Given the description of an element on the screen output the (x, y) to click on. 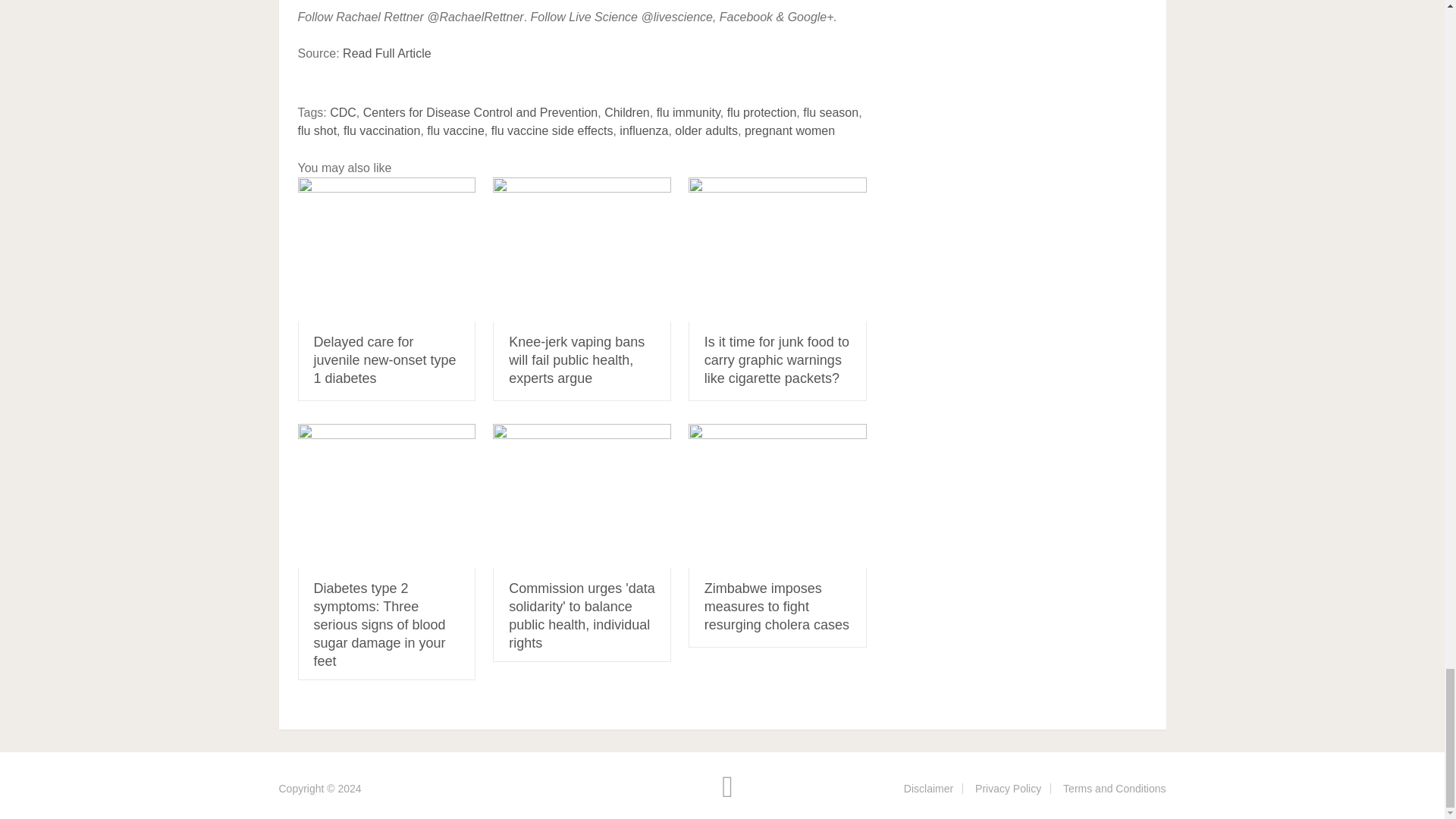
Children (626, 112)
influenza (644, 130)
flu shot (316, 130)
Knee-jerk vaping bans will fail public health, experts argue (576, 359)
Knee-jerk vaping bans will fail public health, experts argue (582, 249)
flu immunity (688, 112)
flu vaccination (381, 130)
flu vaccine side effects (552, 130)
Centers for Disease Control and Prevention (480, 112)
older adults (706, 130)
flu protection (761, 112)
